Given the description of an element on the screen output the (x, y) to click on. 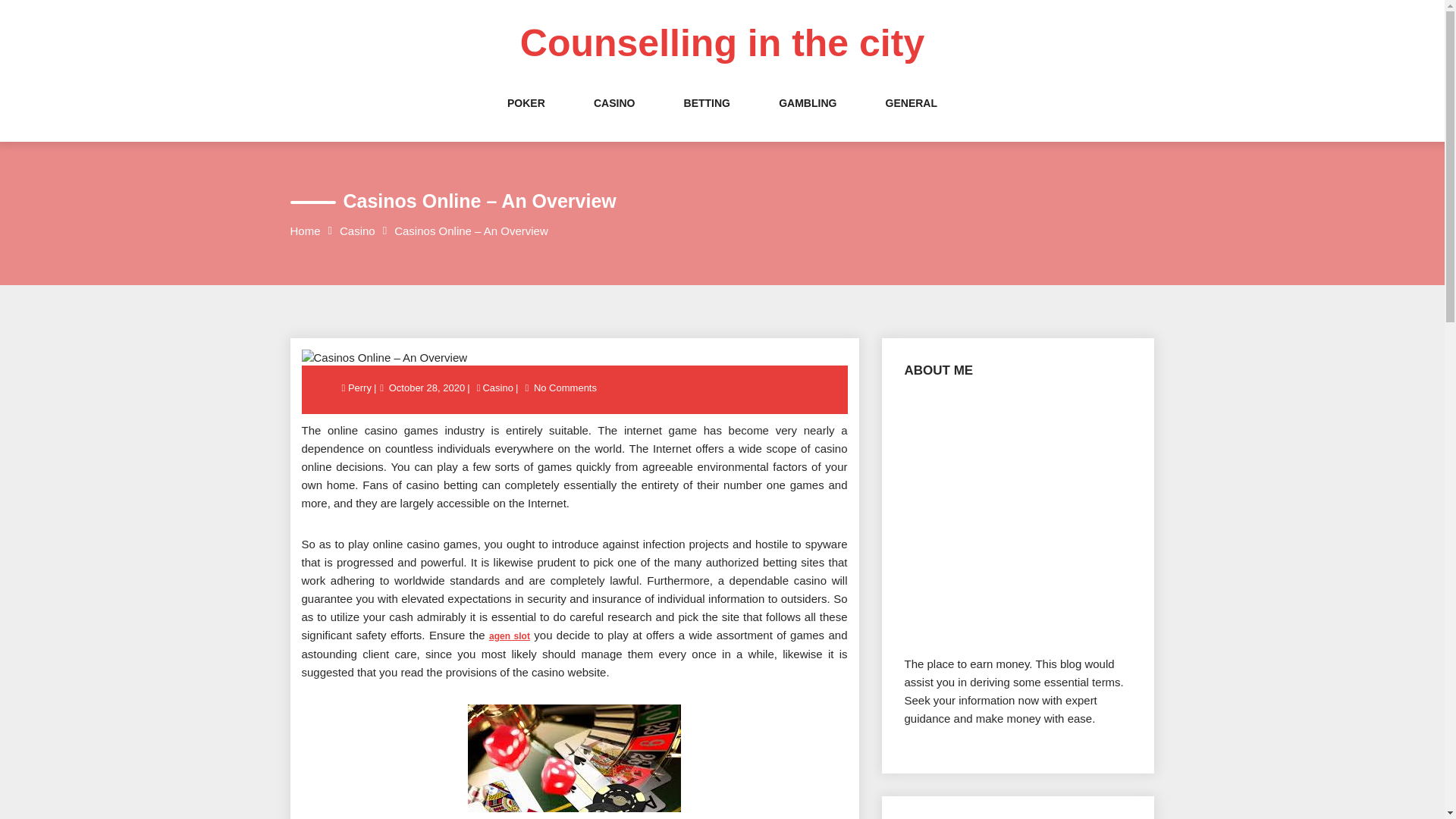
BETTING (707, 118)
CASINO (614, 118)
GAMBLING (806, 118)
Perry (360, 387)
Casino (357, 230)
Counselling in the city (721, 43)
No Comments (564, 387)
October 28, 2020 (427, 387)
agen slot (509, 634)
GENERAL (911, 118)
Casino (497, 387)
Home (304, 230)
POKER (525, 118)
